Given the description of an element on the screen output the (x, y) to click on. 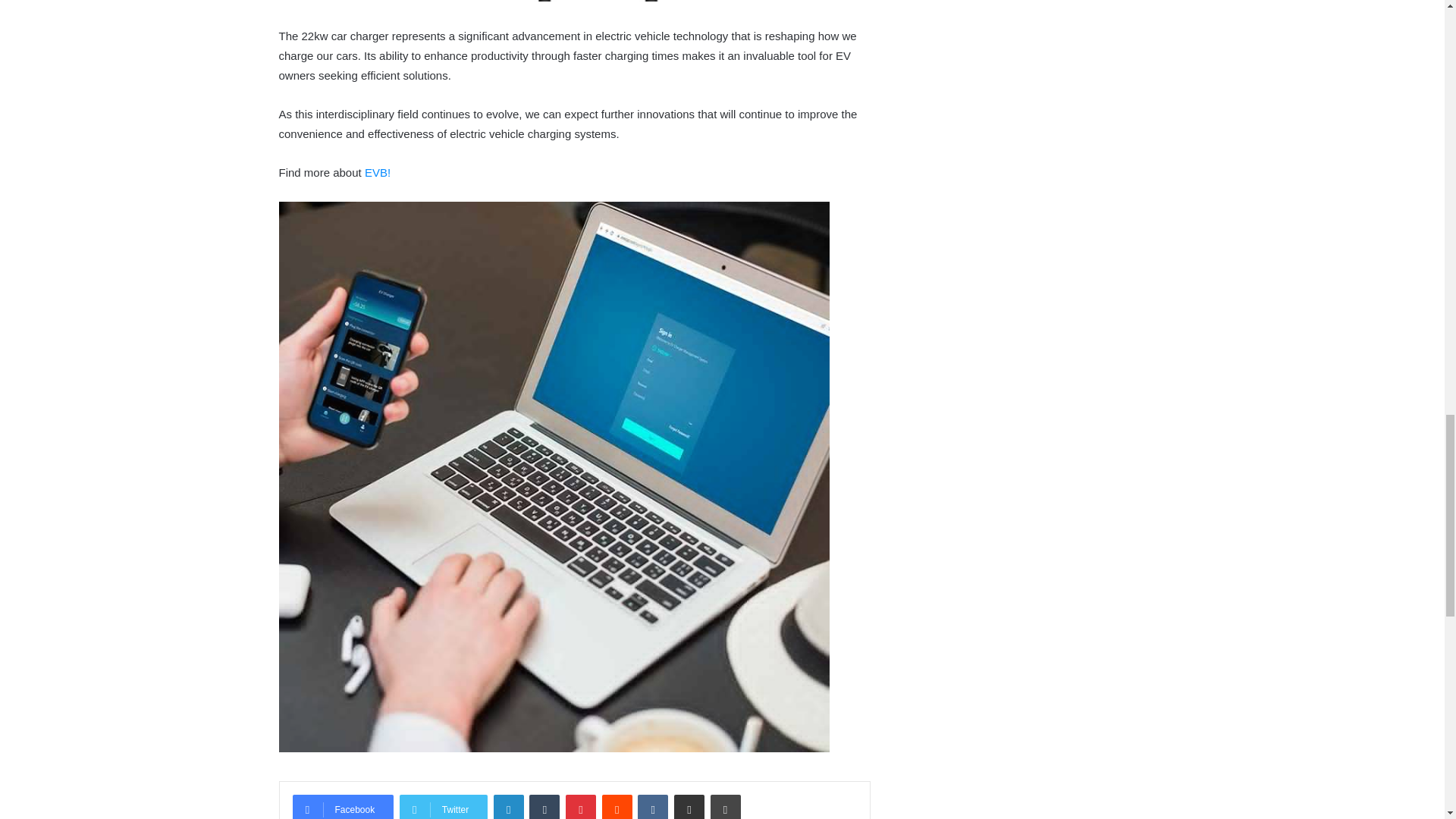
Pinterest (580, 806)
Share via Email (689, 806)
LinkedIn (508, 806)
Print (725, 806)
Twitter (442, 806)
Share via Email (689, 806)
Print (725, 806)
Tumblr (544, 806)
Reddit (616, 806)
LinkedIn (508, 806)
